Given the description of an element on the screen output the (x, y) to click on. 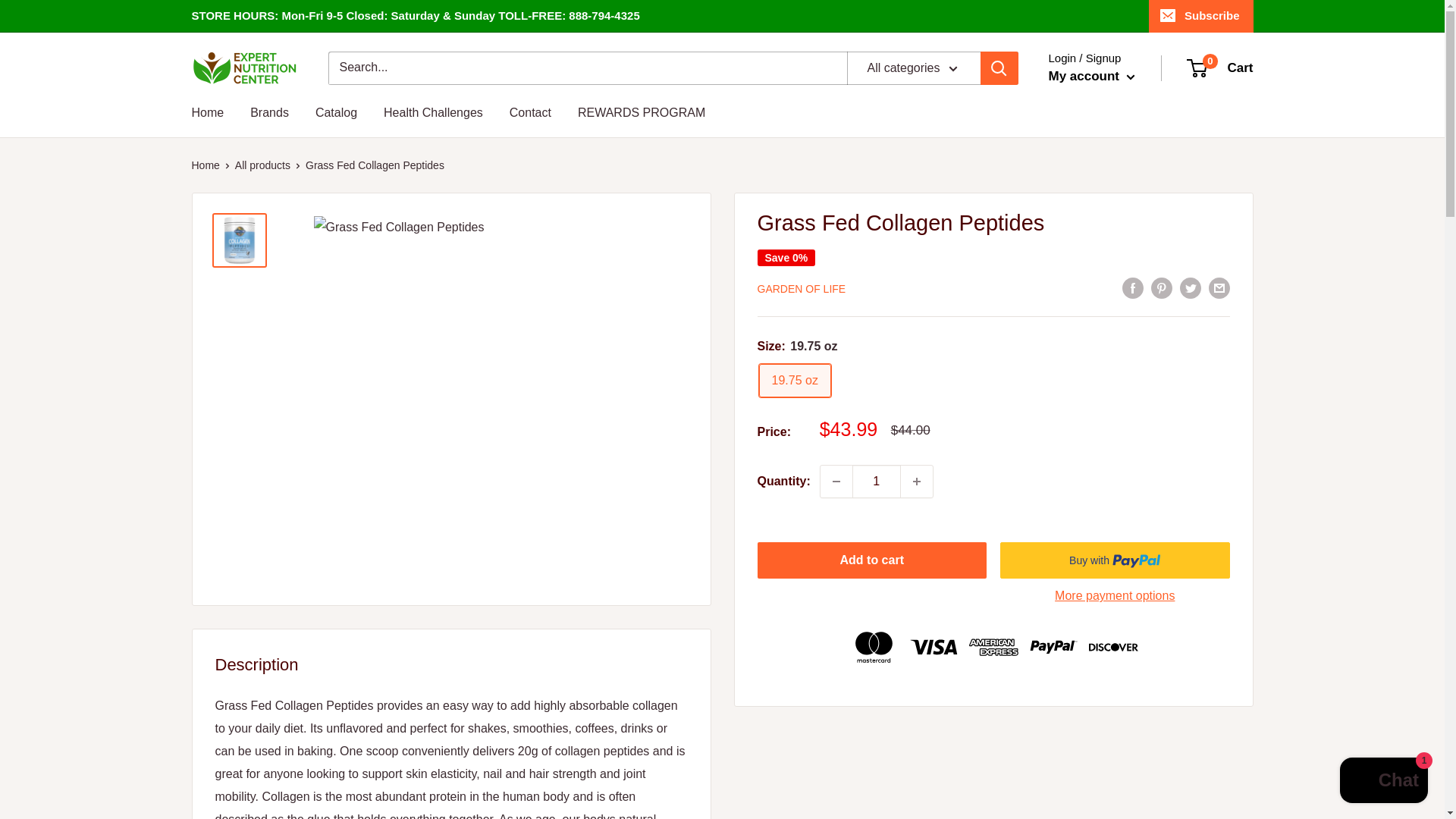
Brands (269, 112)
Home (207, 112)
Decrease quantity by 1 (836, 481)
Health Challenges (433, 112)
GARDEN OF LIFE (1220, 68)
All products (801, 288)
Catalog (261, 164)
REWARDS PROGRAM (335, 112)
19.75 oz (641, 112)
My account (793, 380)
Expert Nutrition Center (1091, 76)
Increase quantity by 1 (243, 67)
Shopify online store chat (917, 481)
1 (1383, 781)
